Given the description of an element on the screen output the (x, y) to click on. 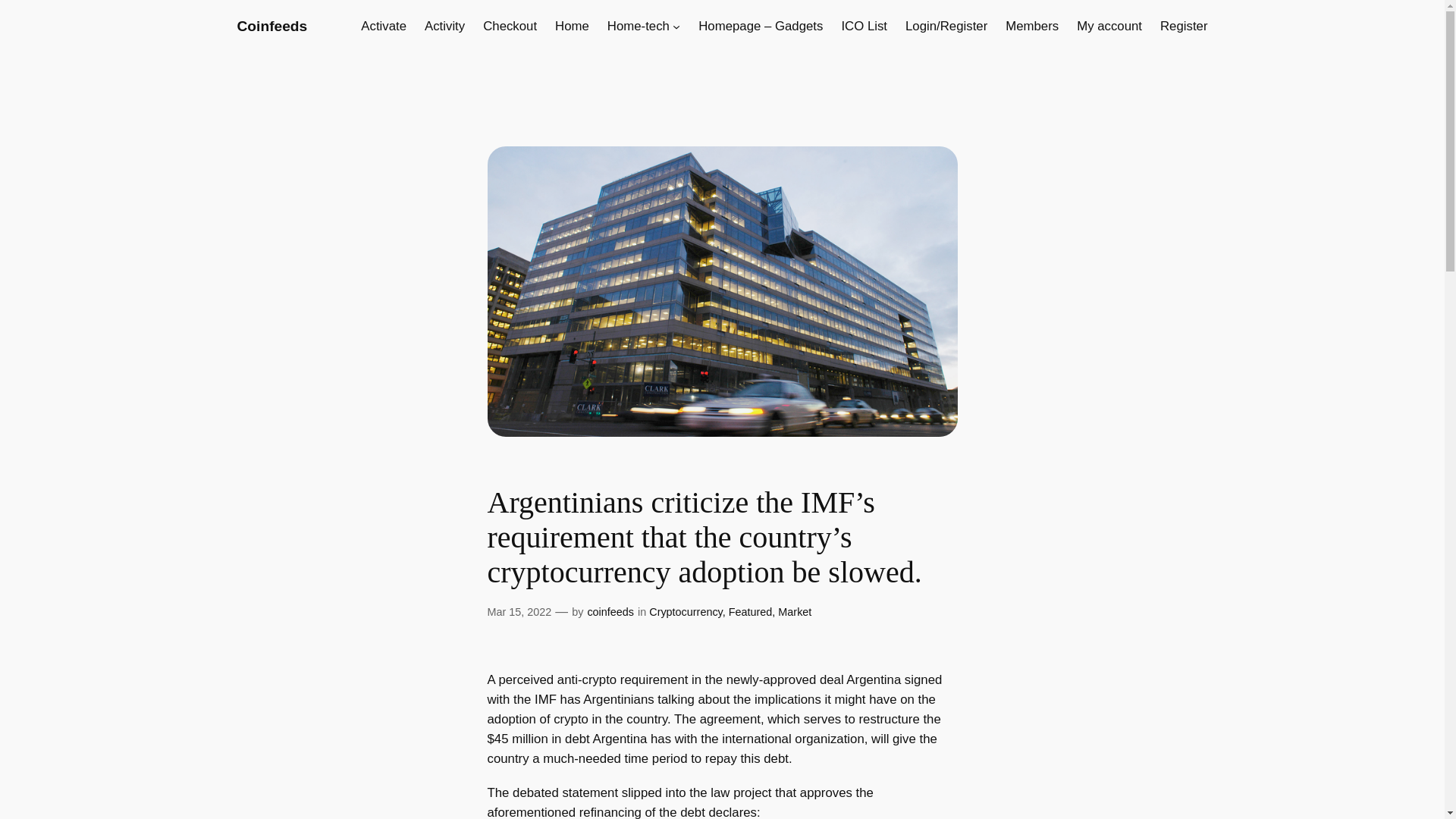
Home-tech (638, 26)
Checkout (510, 26)
My account (1109, 26)
Members (1032, 26)
Featured (751, 612)
Cryptocurrency (685, 612)
Coinfeeds (271, 26)
Register (1184, 26)
Mar 15, 2022 (518, 612)
Activate (383, 26)
Market (793, 612)
coinfeeds (609, 612)
Activity (444, 26)
Home (571, 26)
ICO List (863, 26)
